Given the description of an element on the screen output the (x, y) to click on. 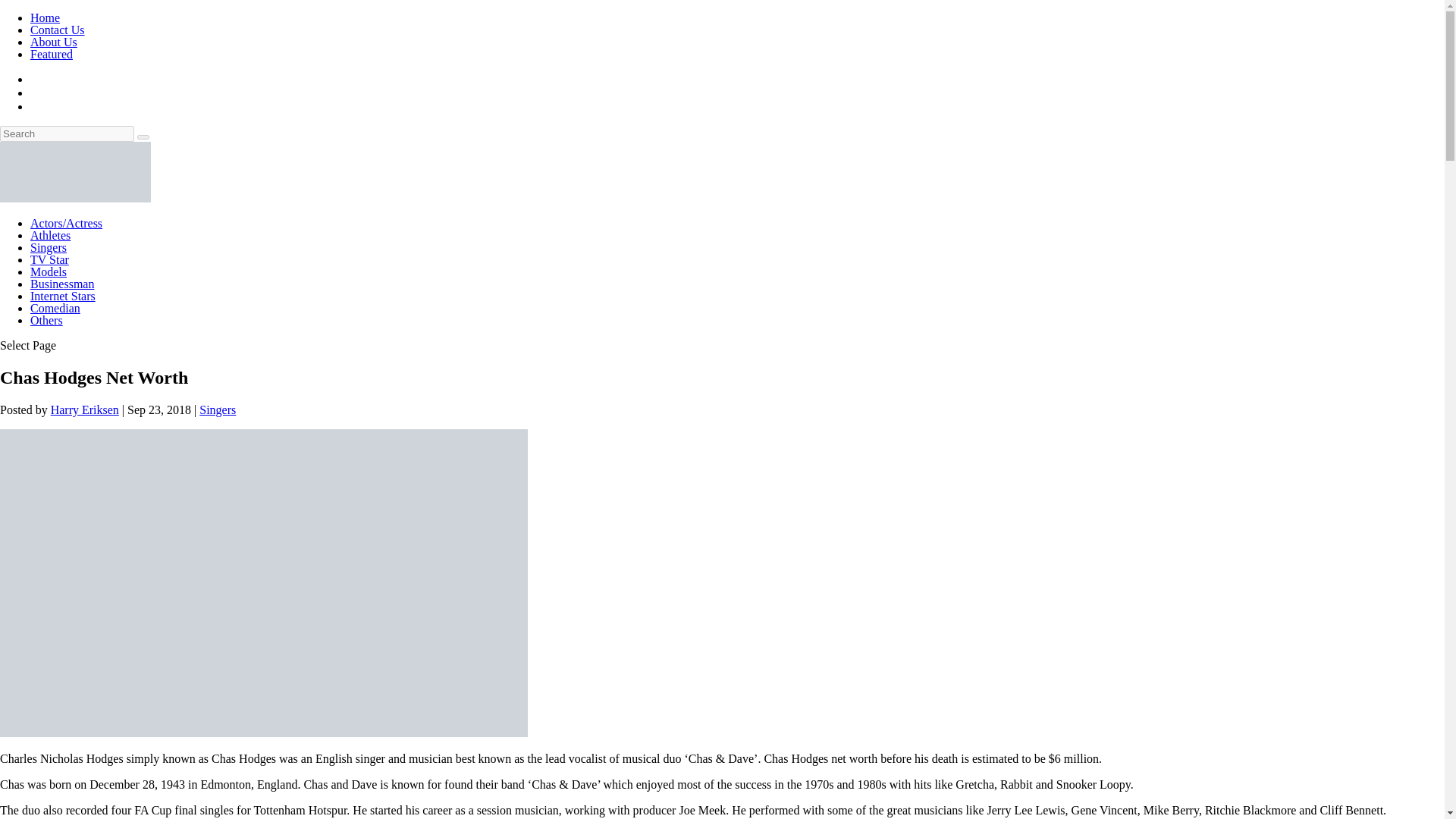
Singers (48, 246)
Harry Eriksen (84, 409)
Models (48, 271)
TV Star (49, 259)
Internet Stars (63, 295)
Home (44, 17)
Search for: (66, 133)
About Us (53, 42)
Comedian (55, 308)
Businessman (62, 283)
Athletes (49, 235)
Featured (51, 53)
Contact Us (57, 29)
Others (46, 319)
Posts by Harry Eriksen (84, 409)
